Given the description of an element on the screen output the (x, y) to click on. 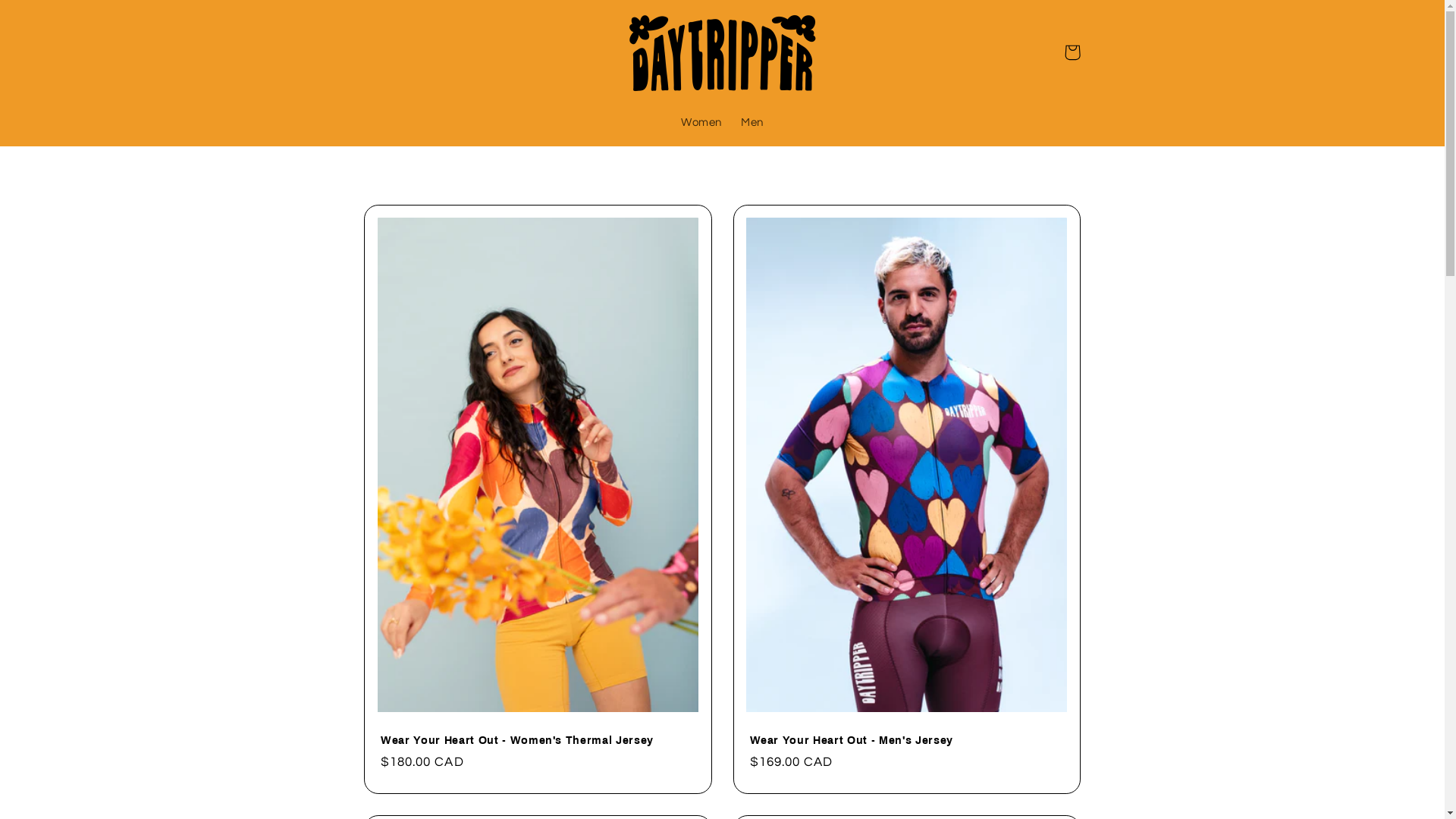
Cart Element type: text (1071, 51)
Women Element type: text (701, 123)
Men Element type: text (752, 123)
Wear Your Heart Out - Women's Thermal Jersey Element type: text (537, 739)
Wear Your Heart Out - Men's Jersey Element type: text (906, 739)
